Given the description of an element on the screen output the (x, y) to click on. 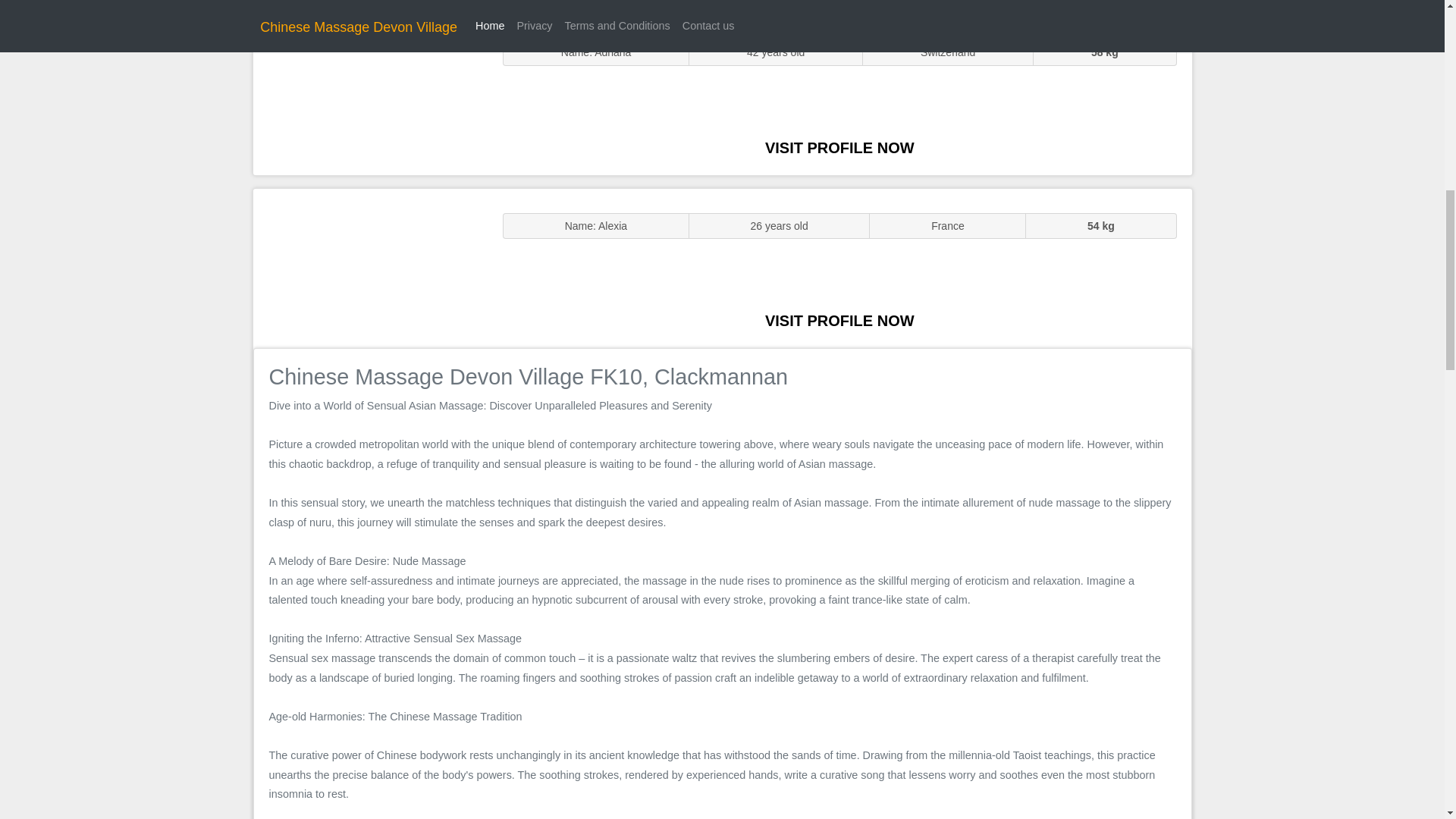
VISIT PROFILE NOW (839, 320)
Massage (370, 267)
Sluts (370, 94)
VISIT PROFILE NOW (839, 147)
